Given the description of an element on the screen output the (x, y) to click on. 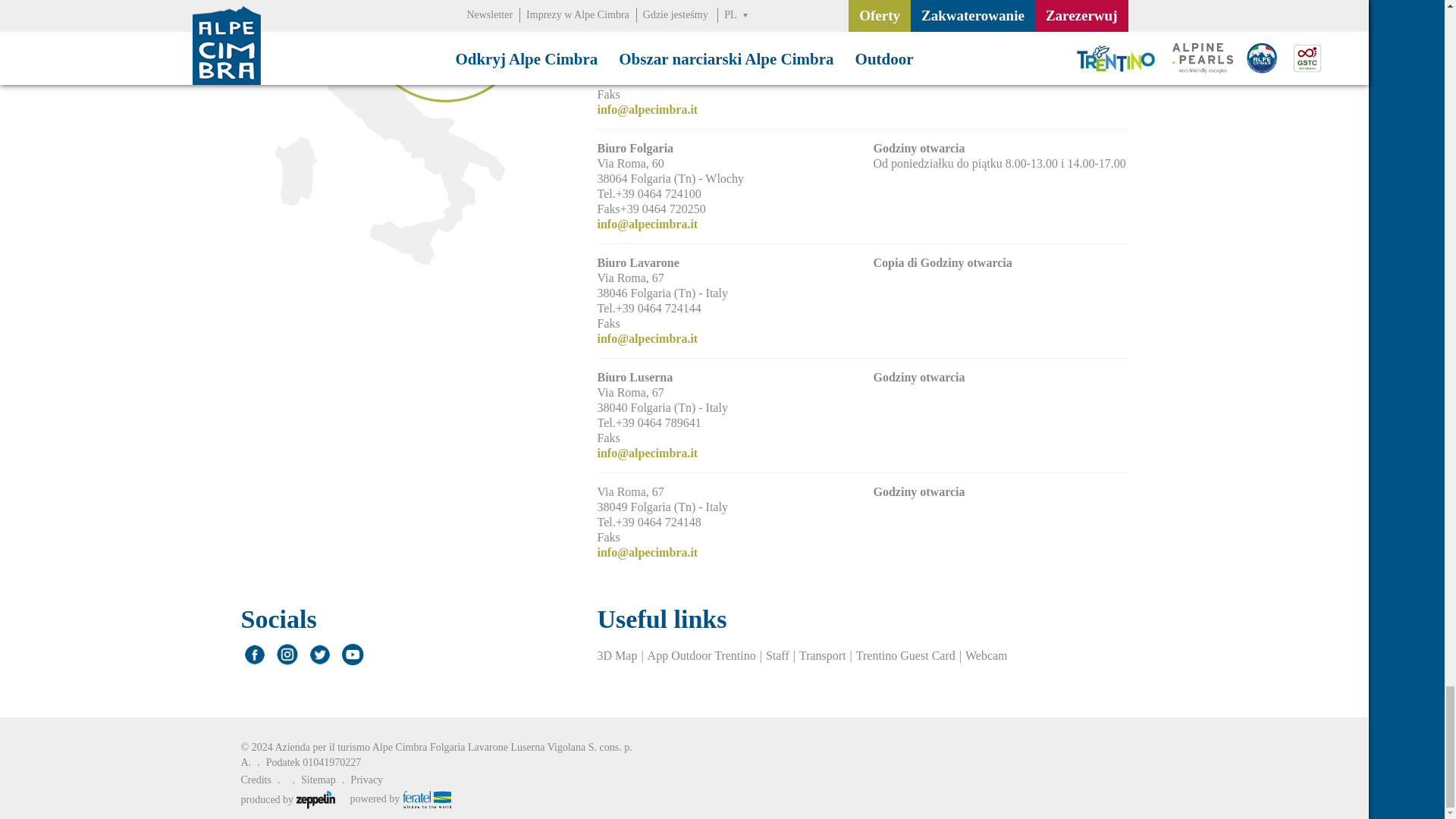
Instagram (286, 654)
Twitter (319, 654)
 feratel media technologies - Destination Management System  (400, 798)
Zeppelin Group - Internet Marketing (287, 799)
Facebook (254, 654)
Youtube (351, 654)
